Given the description of an element on the screen output the (x, y) to click on. 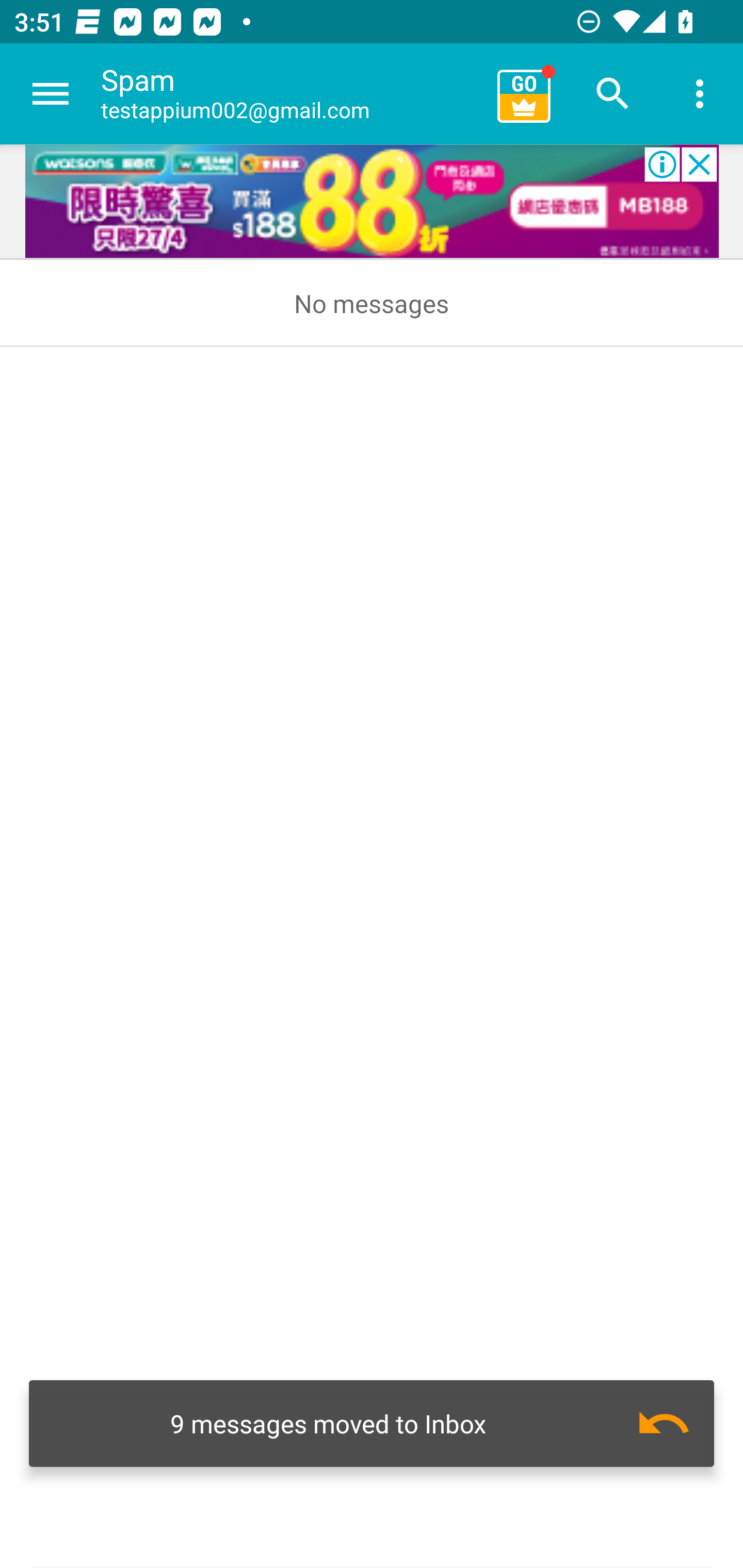
Navigate up (50, 93)
Spam testappium002@gmail.com (291, 93)
Search (612, 93)
More options (699, 93)
Advertisement (371, 202)
No messages (371, 303)
Undo 9 messages moved to Inbox (371, 1423)
